Given the description of an element on the screen output the (x, y) to click on. 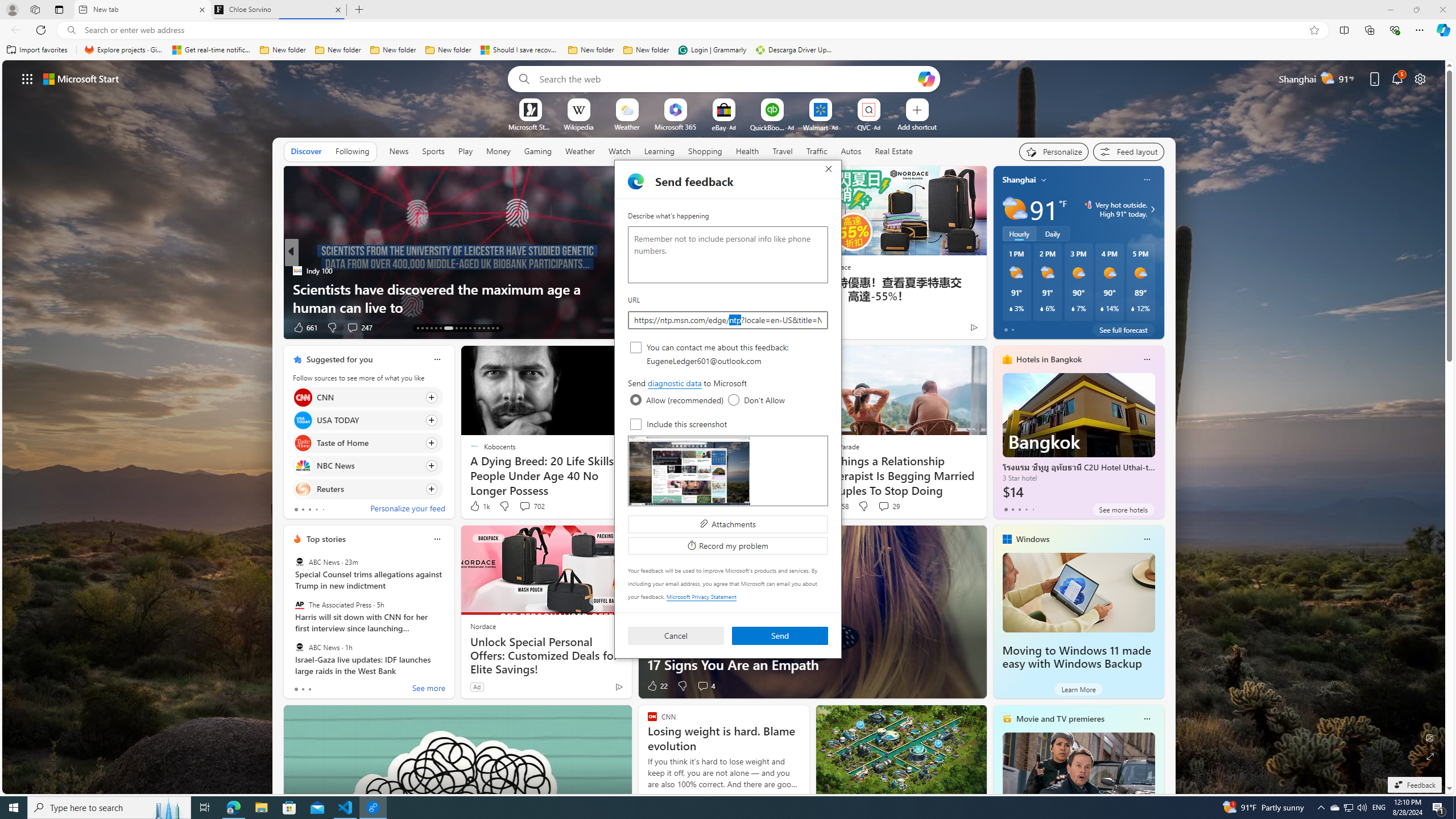
AutomationID: tab-42 (497, 328)
Travel (782, 151)
Personalize your feed" (1054, 151)
Partly sunny (1014, 208)
Expand background (1430, 756)
Edit Background (1430, 737)
AutomationID: tab-21 (460, 328)
Learn More (1078, 689)
